Given the description of an element on the screen output the (x, y) to click on. 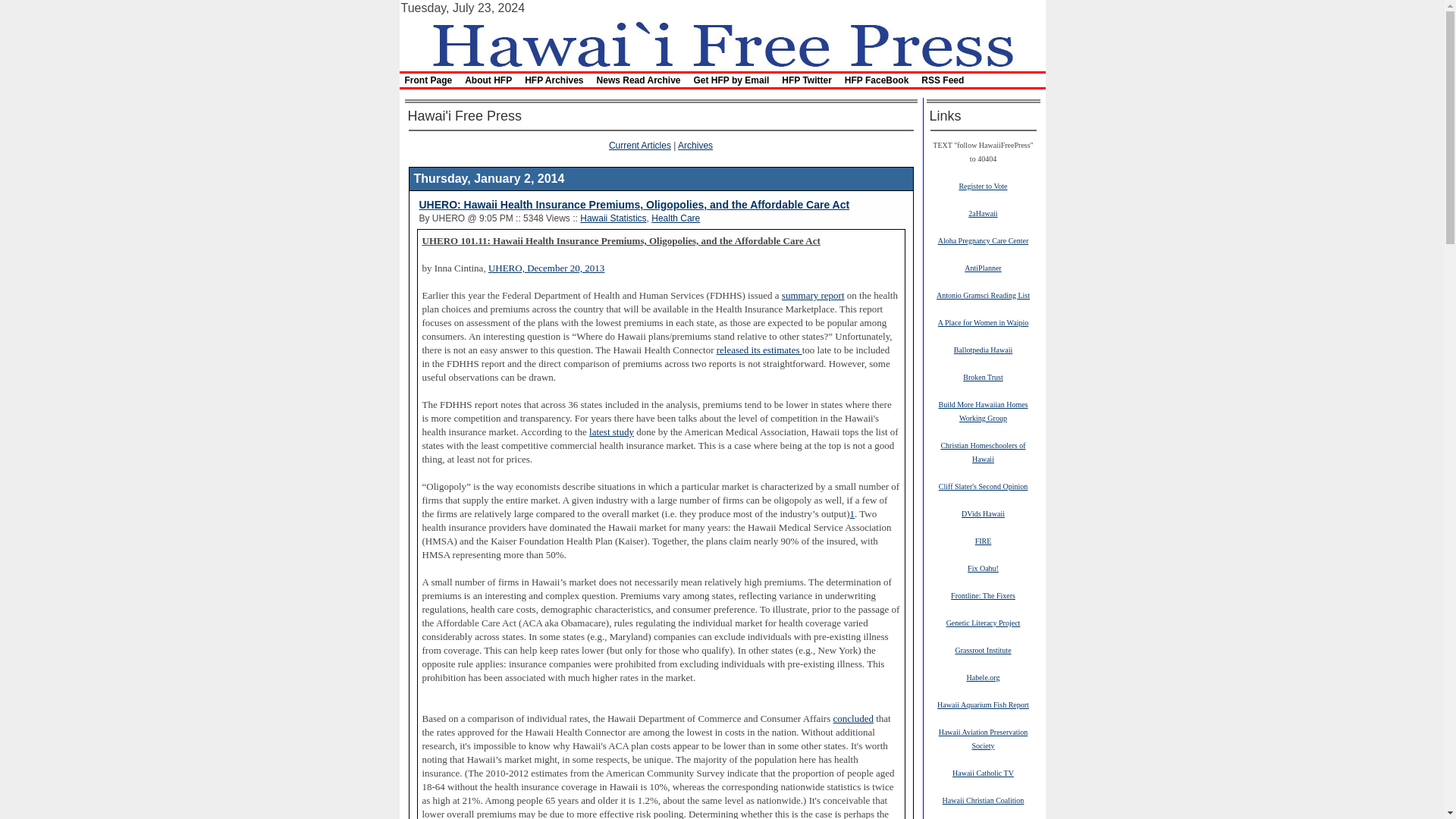
AntiPlanner (982, 267)
Register to Vote (982, 185)
concluded (852, 718)
Hawaii Aquarium Fish Report (983, 704)
Broken Trust (982, 376)
Genetic Literacy Project (983, 622)
Grassroot Institute (982, 649)
UHERO, December 20, 2013 (545, 267)
latest study (611, 431)
Archives (695, 145)
Frontline: The Fixers (982, 594)
Cliff Slater's Second Opinion (983, 485)
Hawaii Free Press (721, 42)
Hawaii Statistics (612, 217)
Build More Hawaiian Homes Working Group (982, 410)
